Given the description of an element on the screen output the (x, y) to click on. 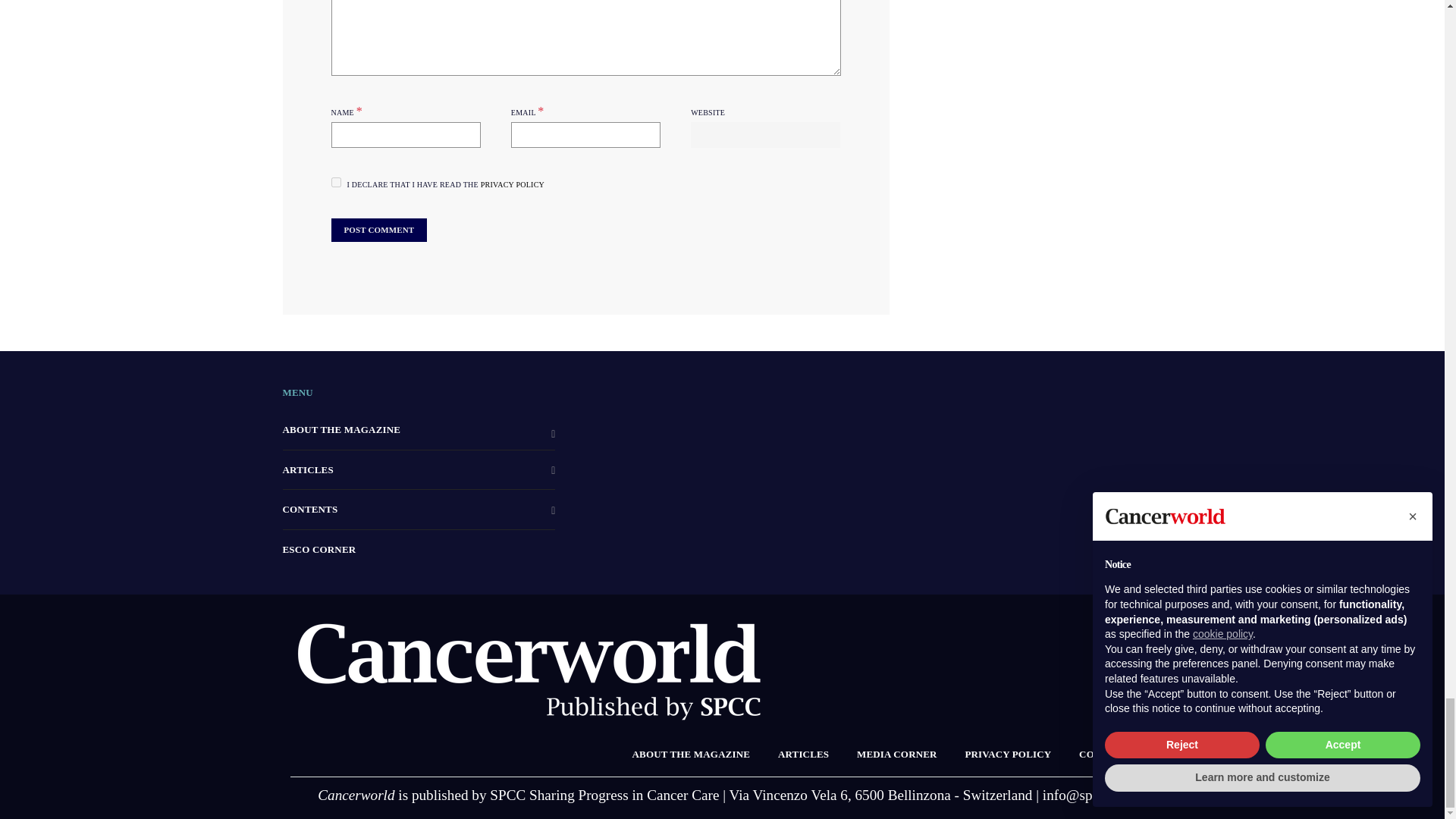
Post Comment (378, 229)
yes (335, 182)
